Given the description of an element on the screen output the (x, y) to click on. 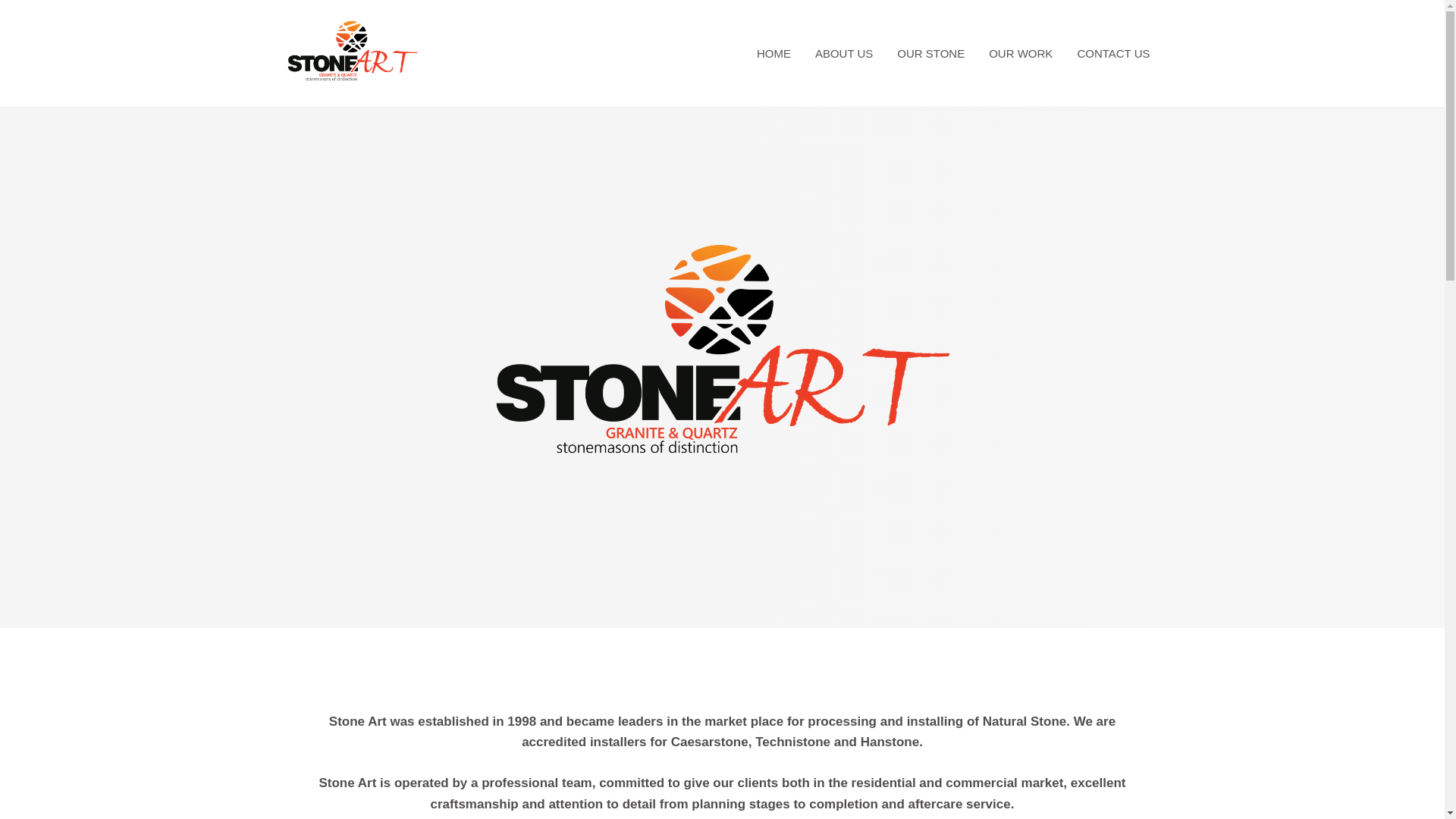
CONTACT US (1112, 53)
OUR STONE (930, 53)
ABOUT US (844, 53)
HOME (773, 53)
OUR WORK (1020, 53)
